Given the description of an element on the screen output the (x, y) to click on. 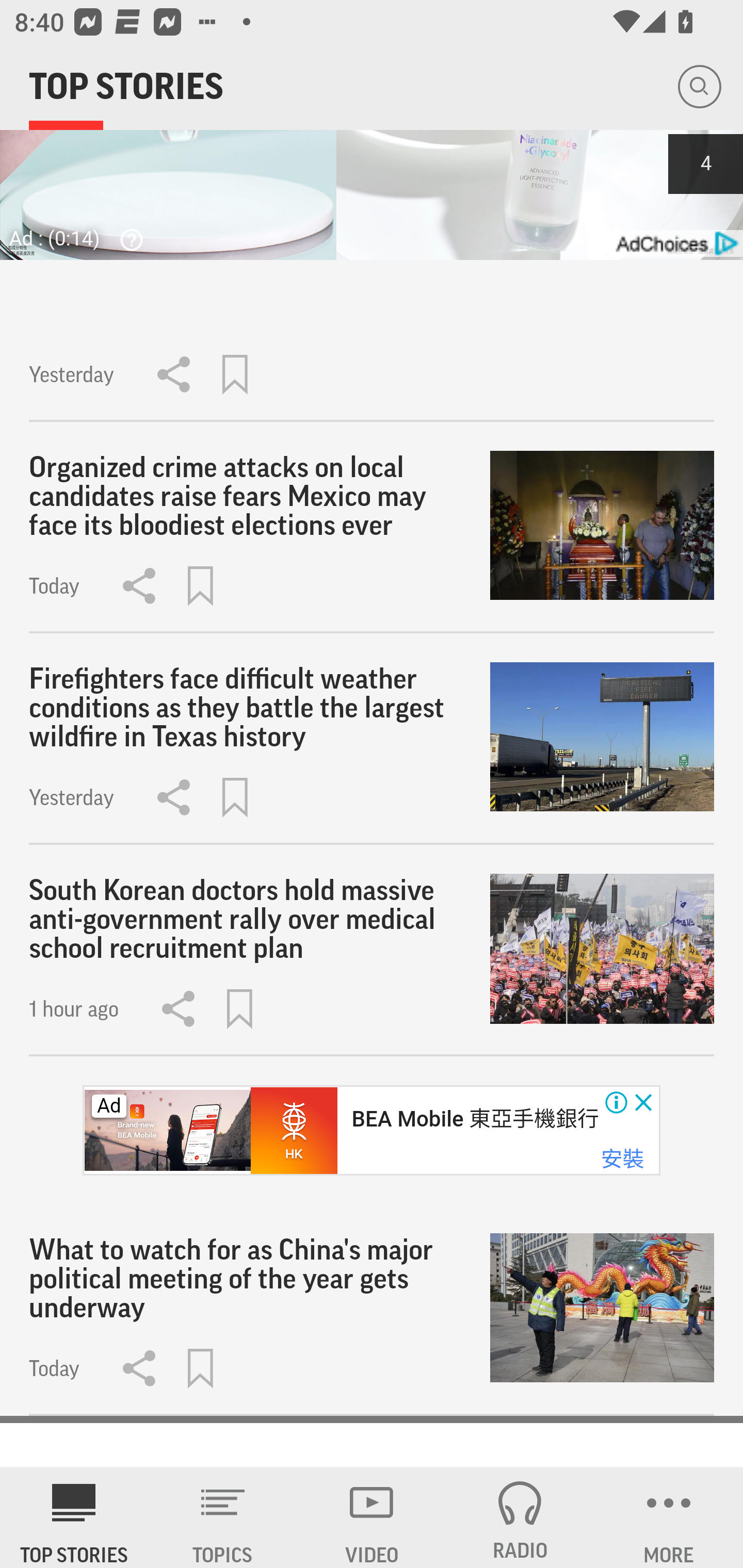
Skip Ad Countdown (705, 162)
Ad : (0:15) Why This Ad? (82, 237)
Why This Ad? (126, 238)
get?name=admarker-full-tl (675, 243)
BEA Mobile 東亞手機銀行 (473, 1119)
安裝 (621, 1159)
AP News TOP STORIES (74, 1517)
TOPICS (222, 1517)
VIDEO (371, 1517)
RADIO (519, 1517)
MORE (668, 1517)
